Given the description of an element on the screen output the (x, y) to click on. 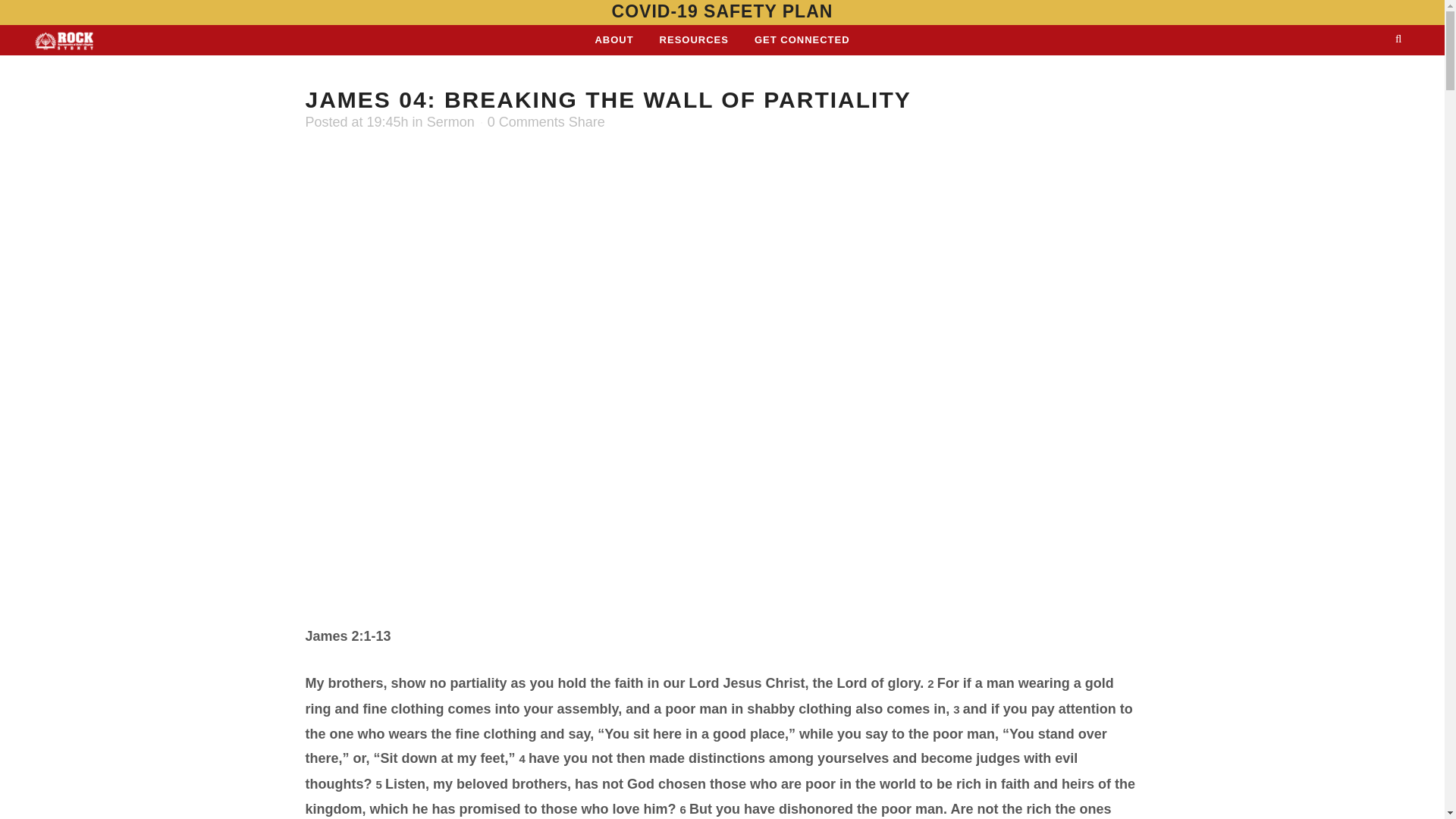
COVID-19 SAFETY PLAN (721, 11)
RESOURCES (693, 40)
ABOUT (613, 40)
